Given the description of an element on the screen output the (x, y) to click on. 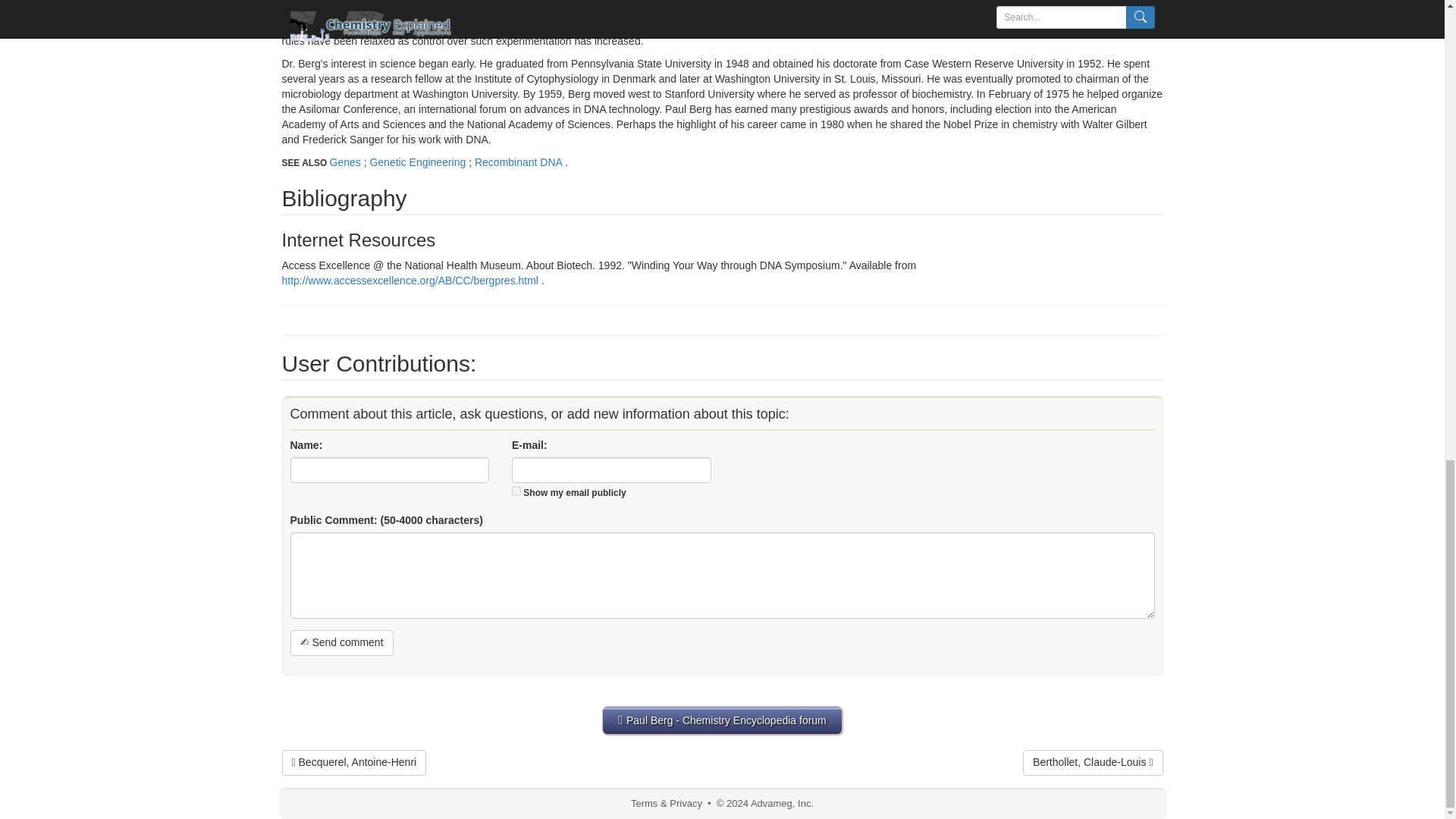
Becquerel, Antoine-Henri (354, 762)
Paul Berg - Chemistry Encyclopedia forum (722, 719)
1 (516, 491)
Genes (345, 162)
Genetic Engineering (418, 162)
Berthollet, Claude-Louis (1092, 762)
Recombinant DNA (519, 162)
